Given the description of an element on the screen output the (x, y) to click on. 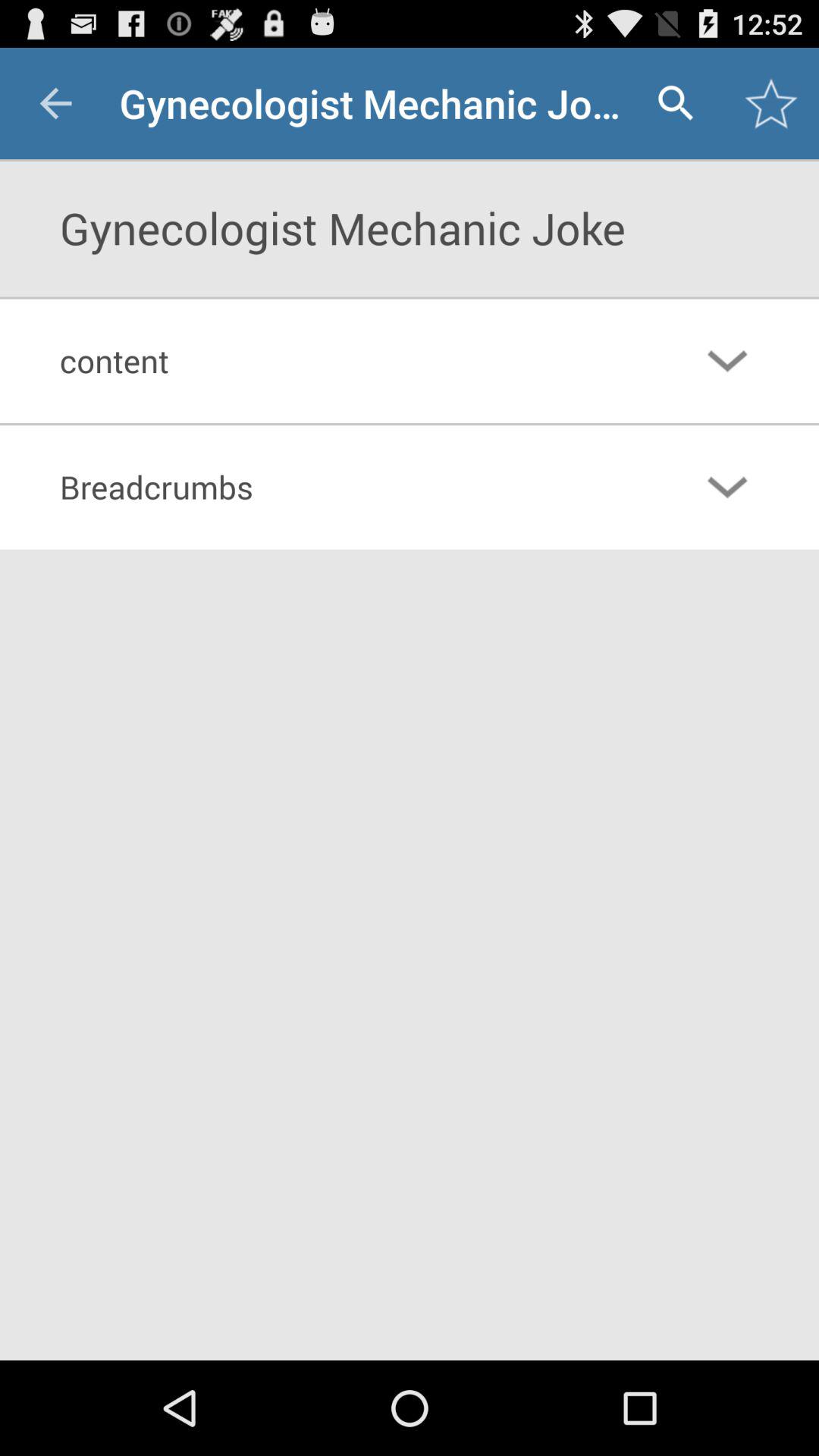
turn on the content item (347, 360)
